Given the description of an element on the screen output the (x, y) to click on. 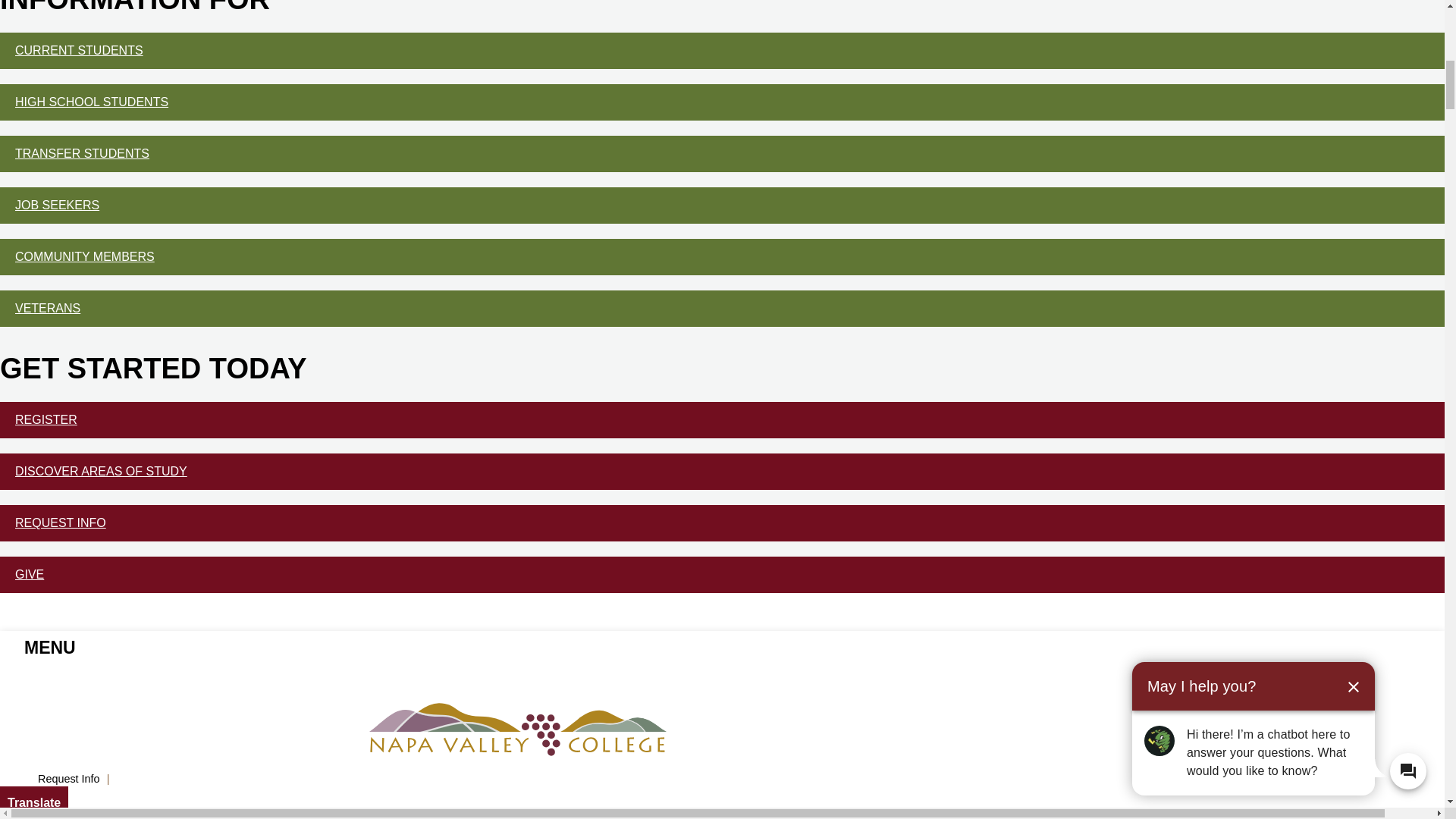
HIGH SCHOOL STUDENTS (722, 102)
CURRENT STUDENTS (722, 50)
DISCOVER AREAS OF STUDY (722, 471)
REGISTER (722, 420)
GIVE (722, 574)
COMMUNITY MEMBERS (722, 257)
VETERANS (722, 308)
REQUEST INFO (722, 523)
JOB SEEKERS (722, 205)
TRANSFER STUDENTS (722, 153)
